Given the description of an element on the screen output the (x, y) to click on. 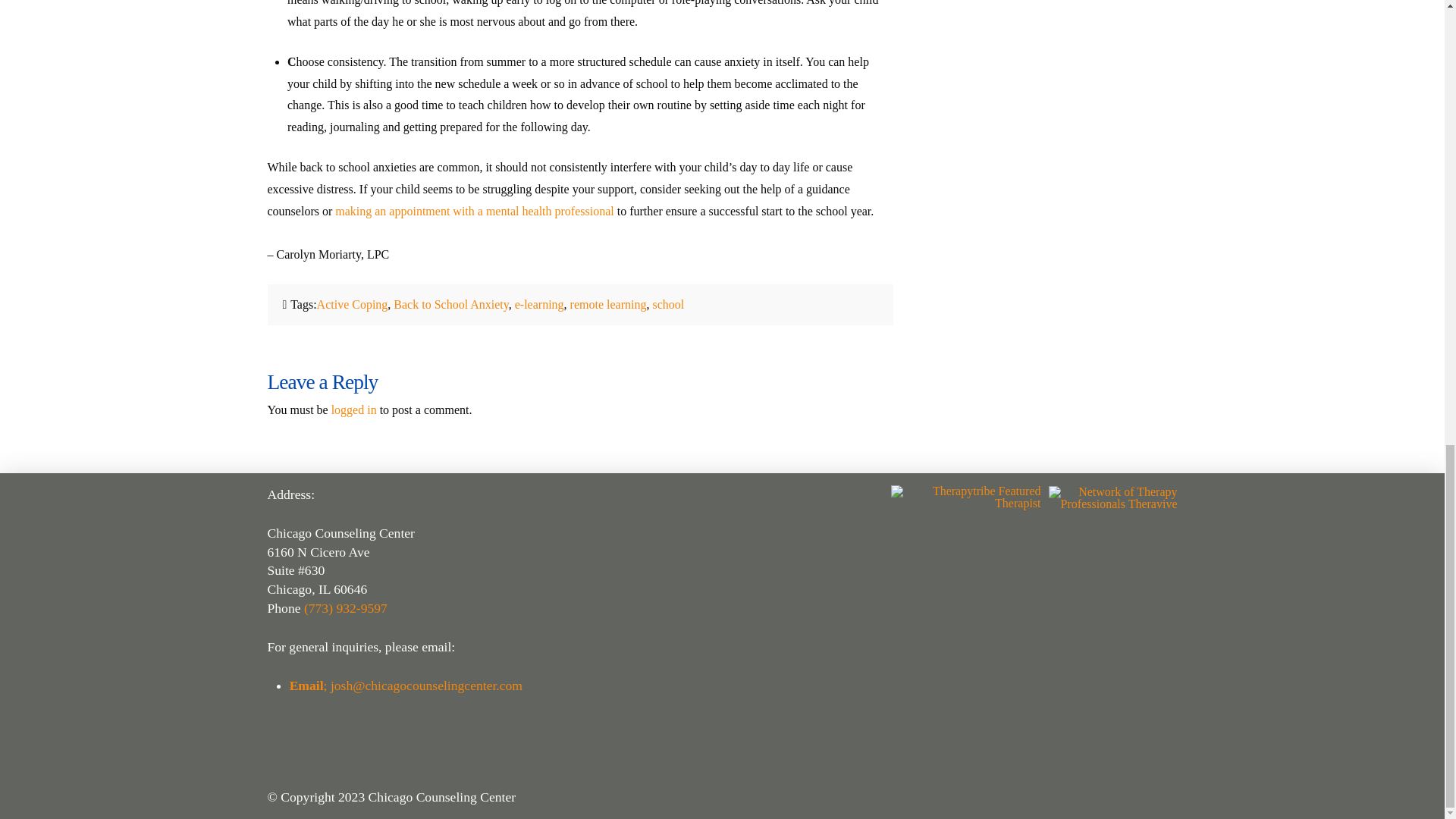
remote learning (608, 304)
Back to School Anxiety (450, 304)
Active Coping (352, 304)
e-learning (539, 304)
school (668, 304)
logged in (354, 409)
making an appointment with a mental health professional (473, 210)
